Given the description of an element on the screen output the (x, y) to click on. 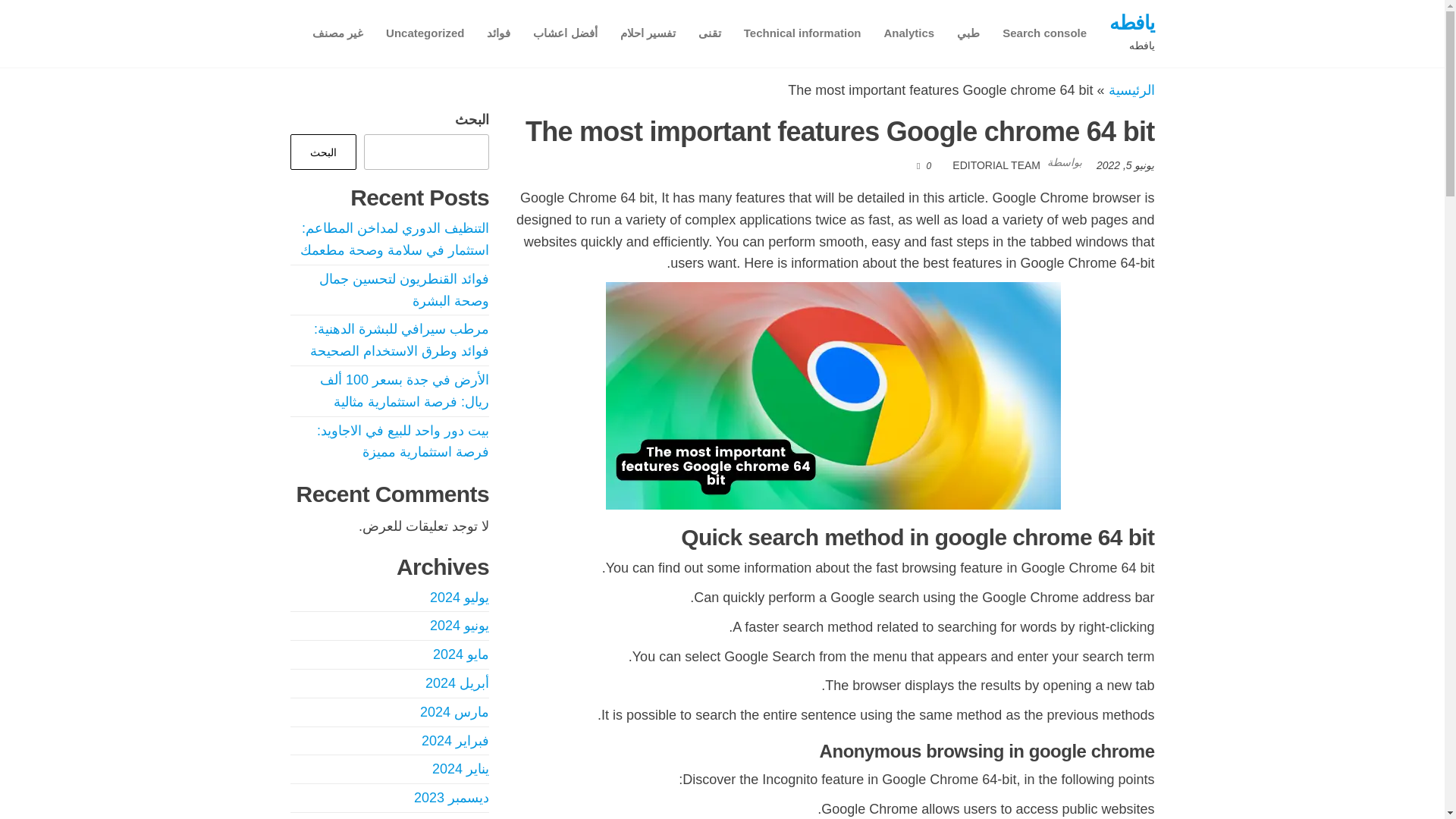
Search console (1044, 33)
Technical information (802, 33)
Uncategorized (425, 33)
Search console (1044, 33)
Analytics (908, 33)
Analytics (908, 33)
EDITORIAL TEAM (996, 164)
Uncategorized (425, 33)
Technical information (802, 33)
